Given the description of an element on the screen output the (x, y) to click on. 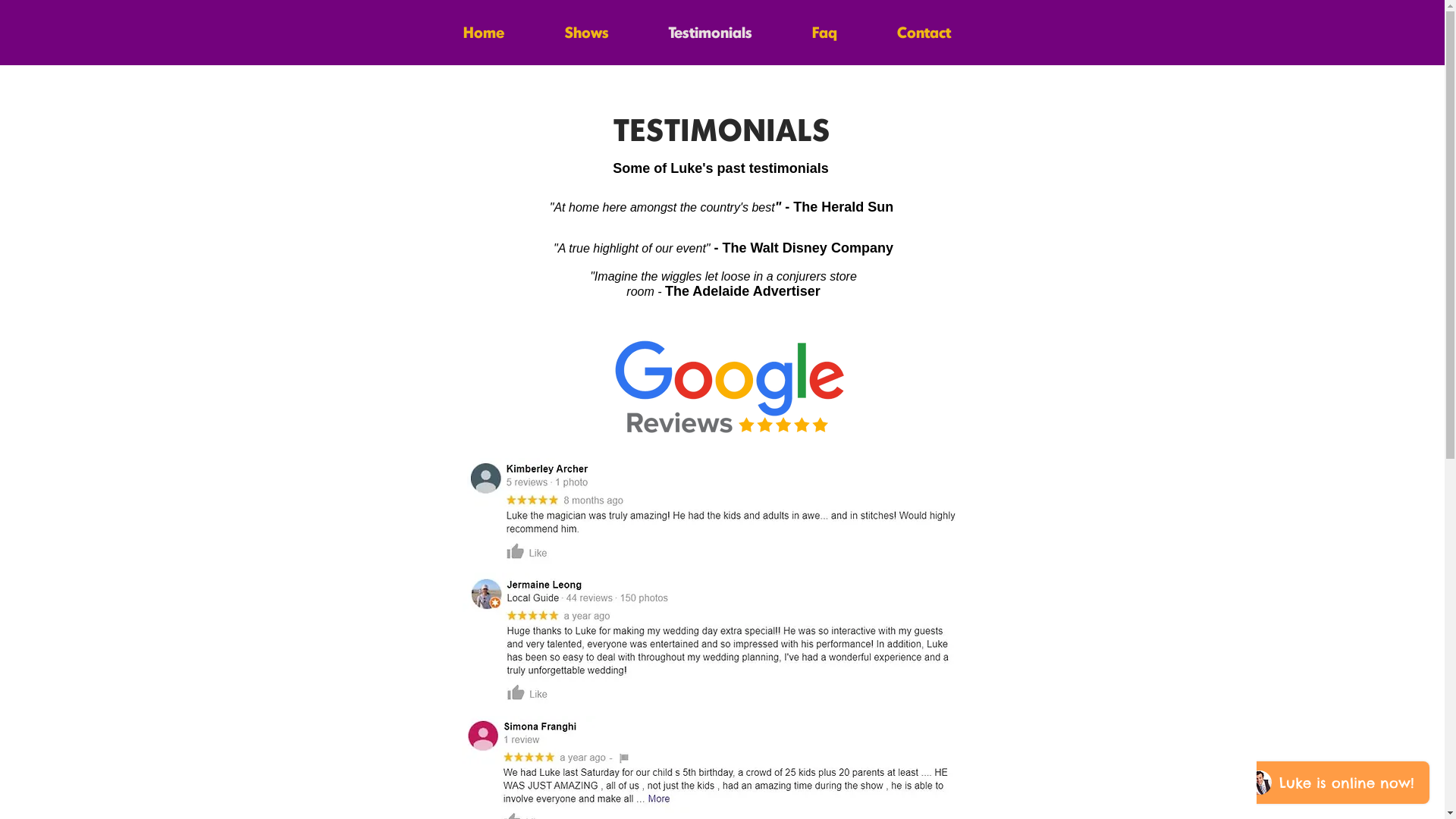
Faq Element type: text (824, 28)
Contact Element type: text (924, 28)
Testimonials Element type: text (709, 28)
Shows Element type: text (585, 28)
Home Element type: text (482, 28)
